Given the description of an element on the screen output the (x, y) to click on. 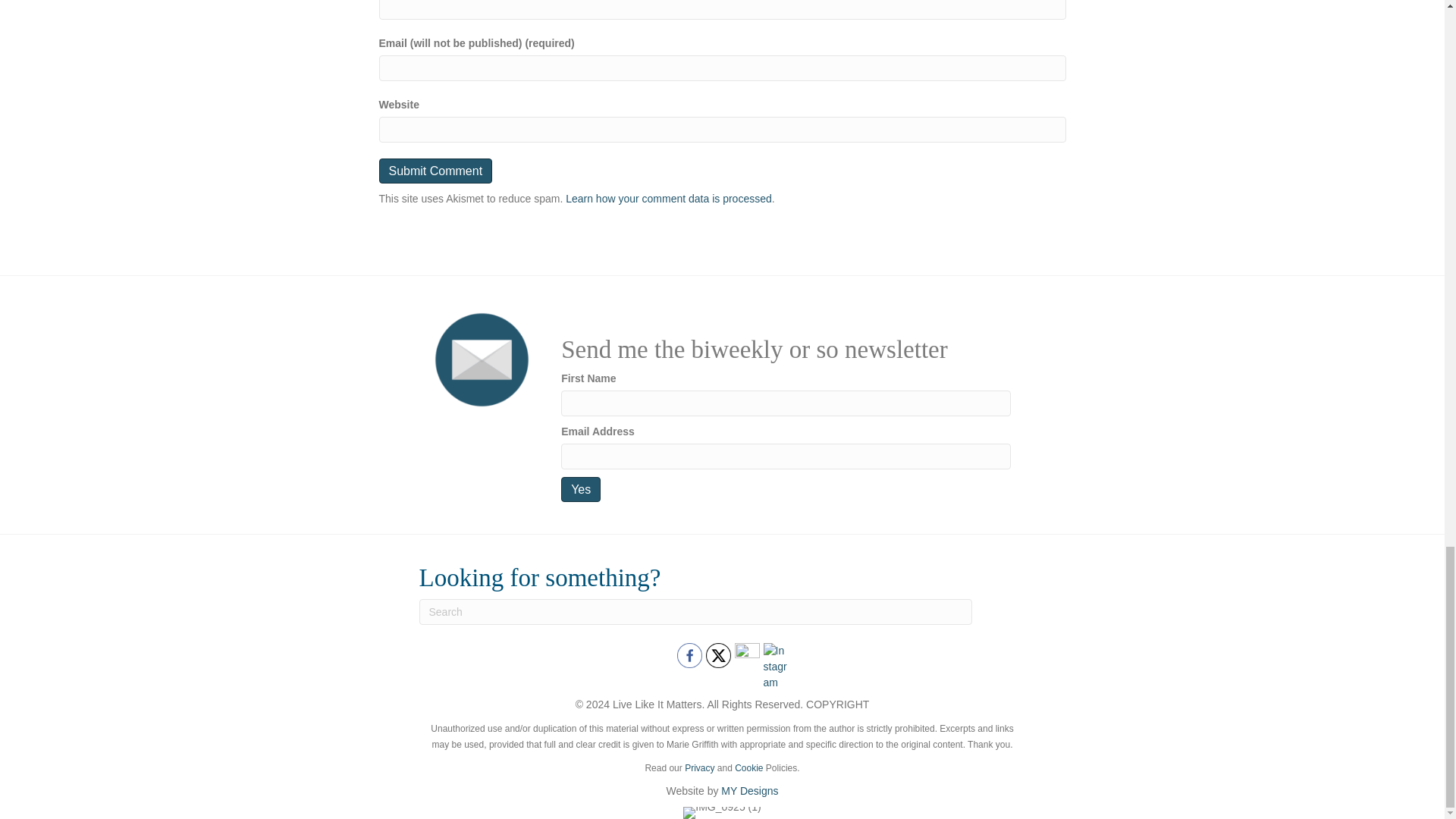
Yes (579, 489)
MY Designs (748, 790)
Learn how your comment data is processed (668, 198)
Yes (579, 489)
Twitter (717, 655)
Privacy (699, 767)
Submit Comment (435, 170)
Facebook (689, 655)
Submit Comment (435, 170)
Type and press Enter to search. (695, 611)
Cookie (748, 767)
